Given the description of an element on the screen output the (x, y) to click on. 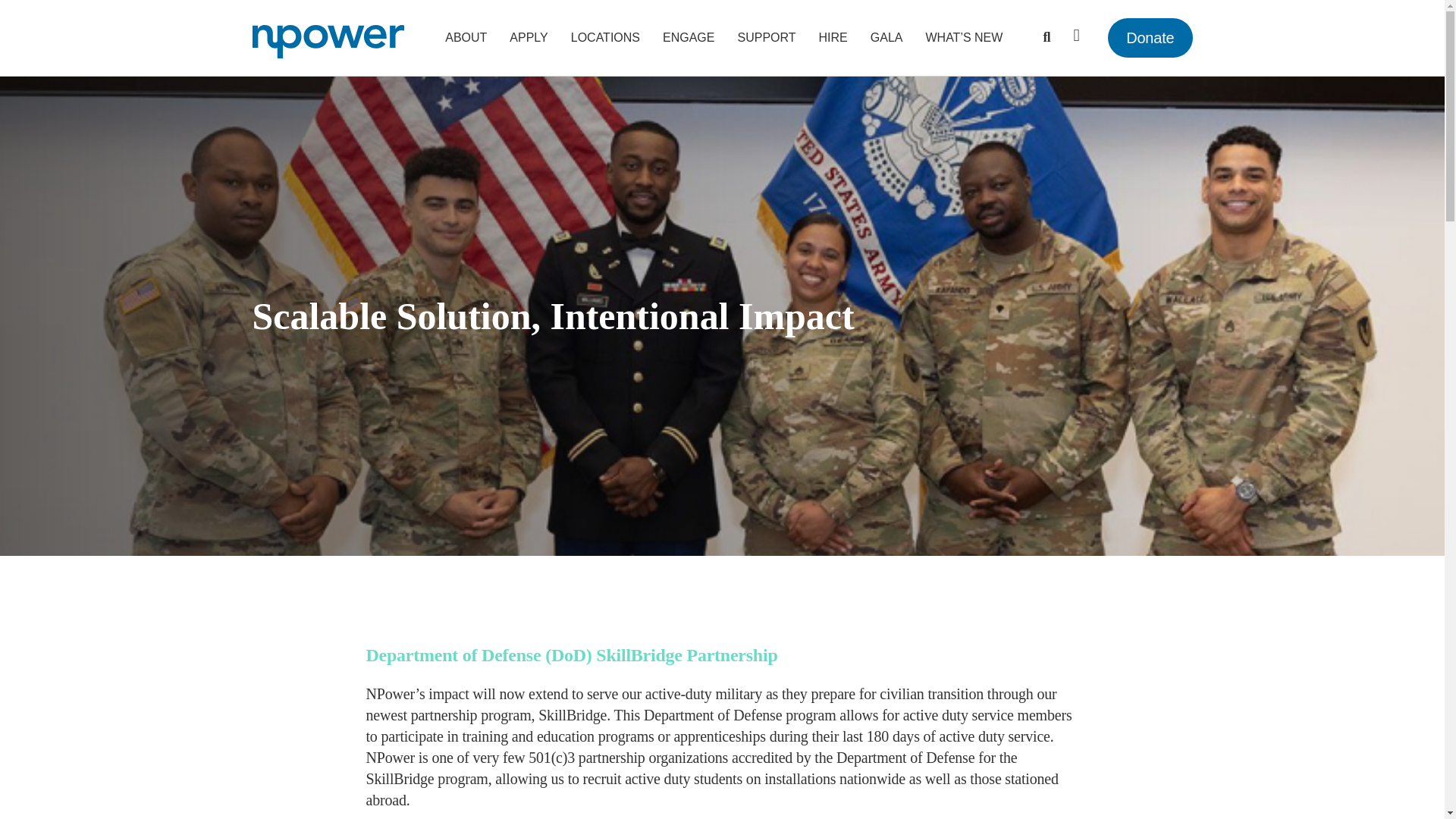
ABOUT (465, 38)
ENGAGE (687, 38)
APPLY (528, 38)
SUPPORT (765, 38)
LOCATIONS (604, 38)
